Given the description of an element on the screen output the (x, y) to click on. 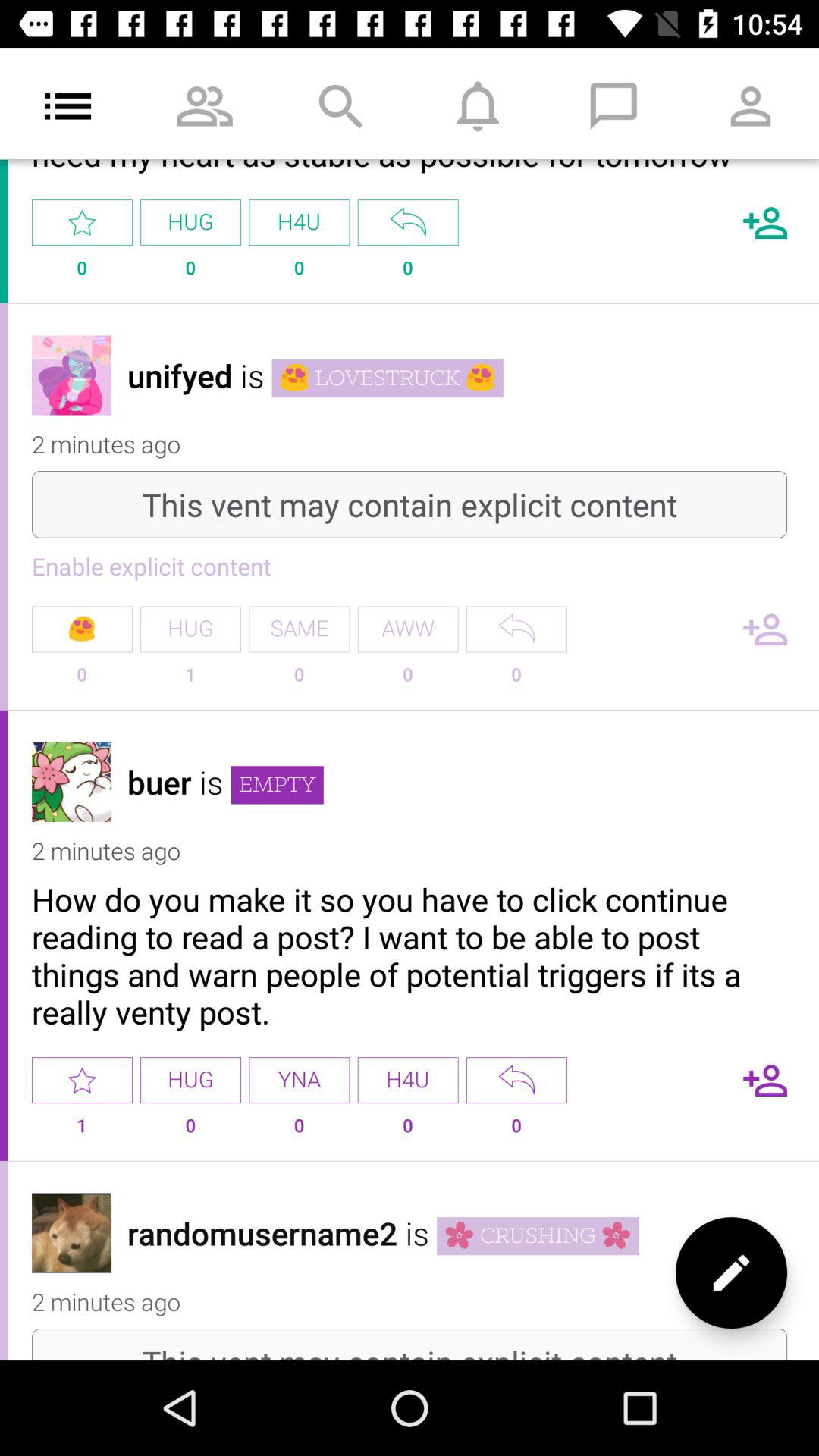
view profile picture (71, 781)
